Given the description of an element on the screen output the (x, y) to click on. 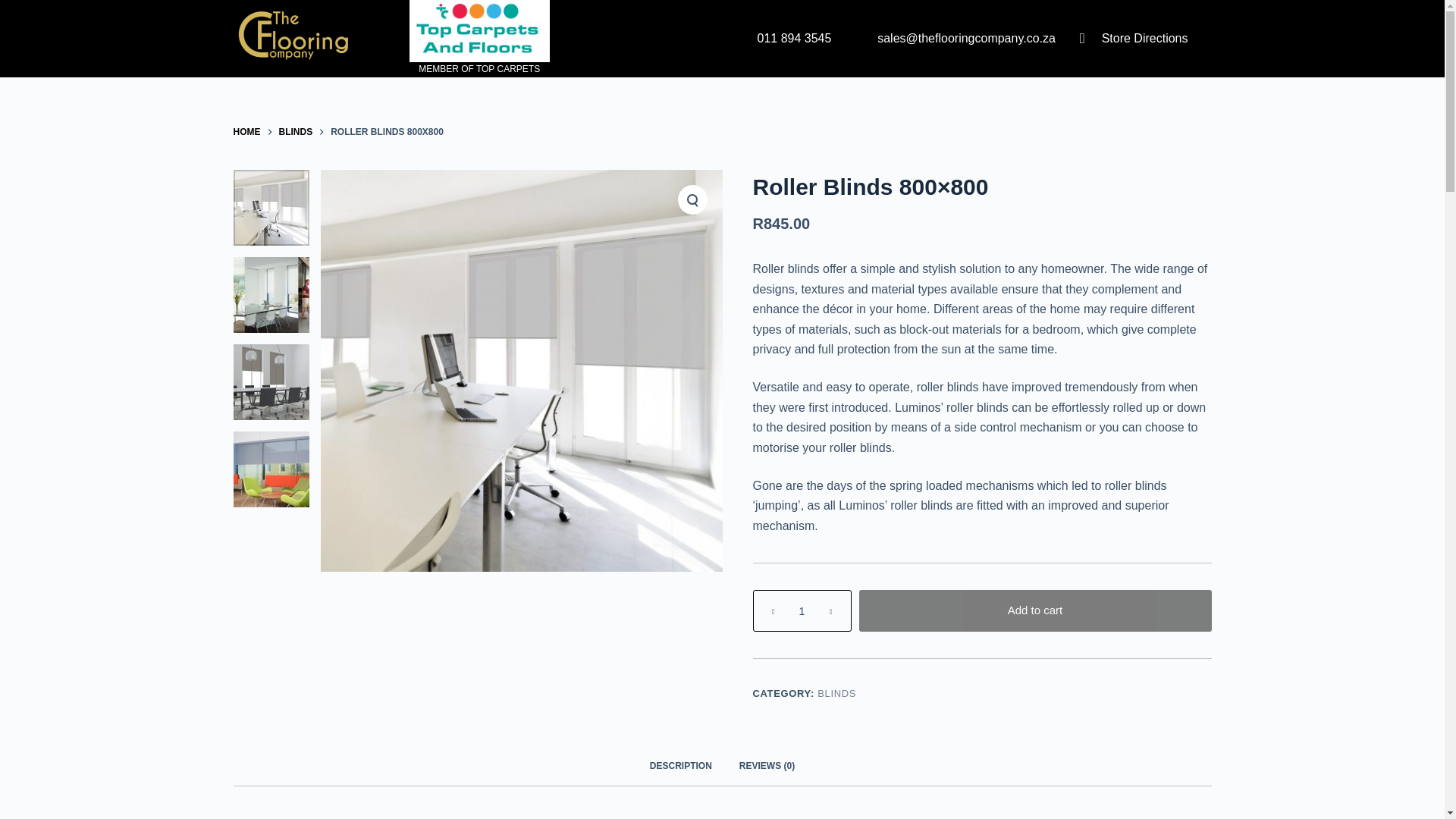
Skip to content (15, 7)
somfywindowcoverings.00ac62dd-1024x483 (270, 294)
000007724439 (270, 468)
 011 894 3545 (775, 38)
BLINDS (296, 132)
DESCRIPTION (680, 766)
Store Directions (1127, 38)
BLINDS (836, 693)
1 (801, 610)
Add to cart (1035, 610)
